Given the description of an element on the screen output the (x, y) to click on. 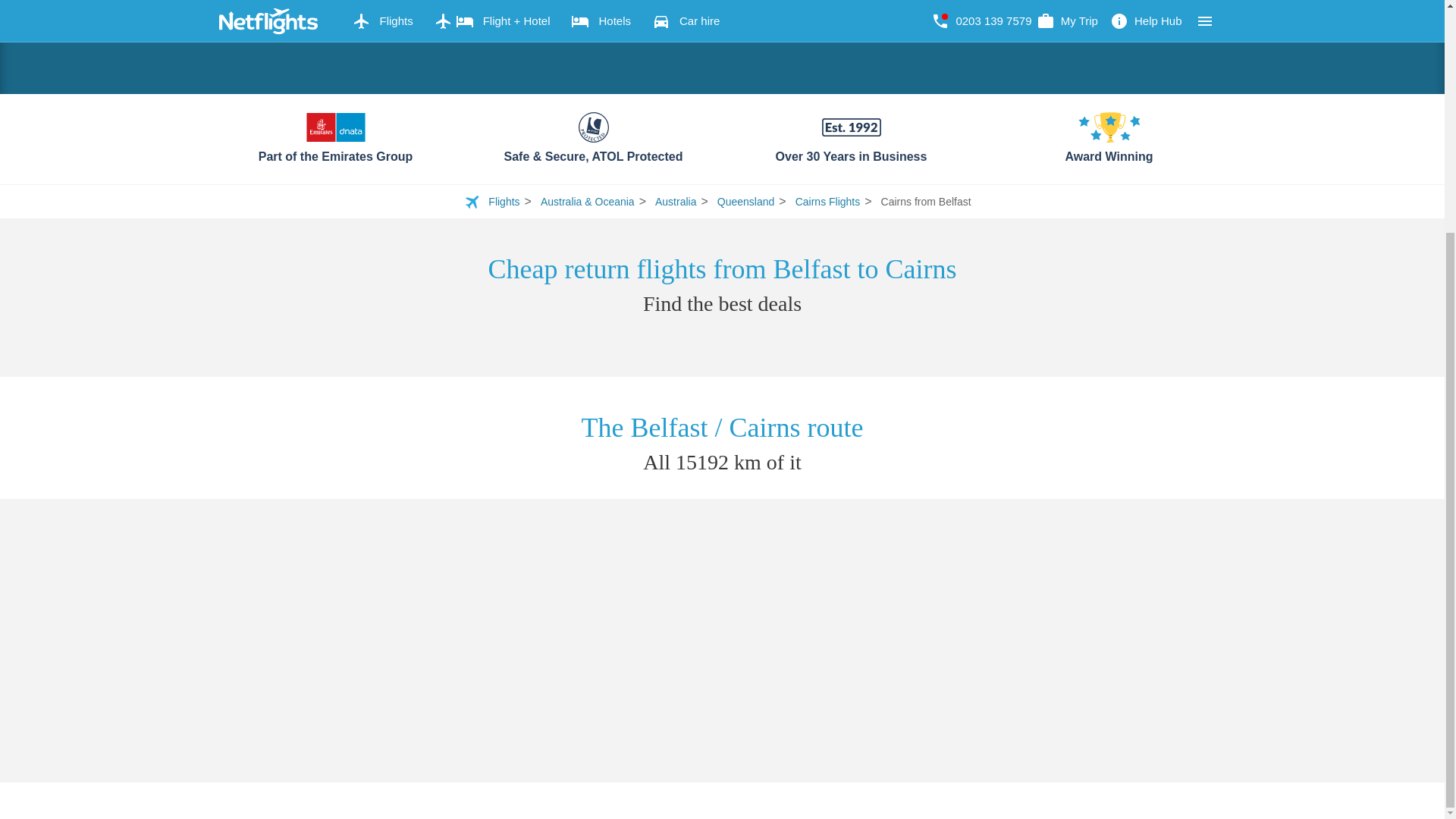
Cairns Flights (827, 201)
Flights (503, 201)
Australia (675, 201)
Queensland (745, 201)
